Given the description of an element on the screen output the (x, y) to click on. 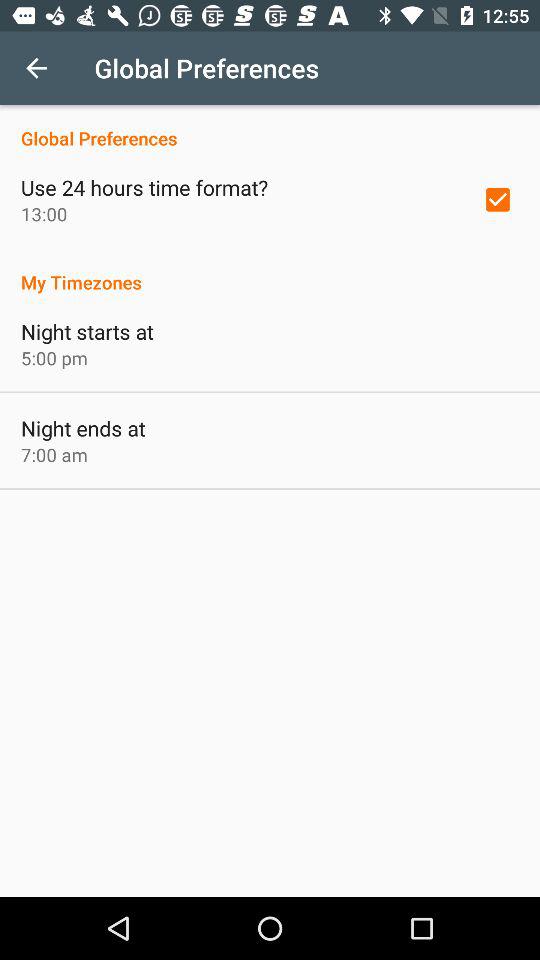
jump until the my timezones item (270, 271)
